Given the description of an element on the screen output the (x, y) to click on. 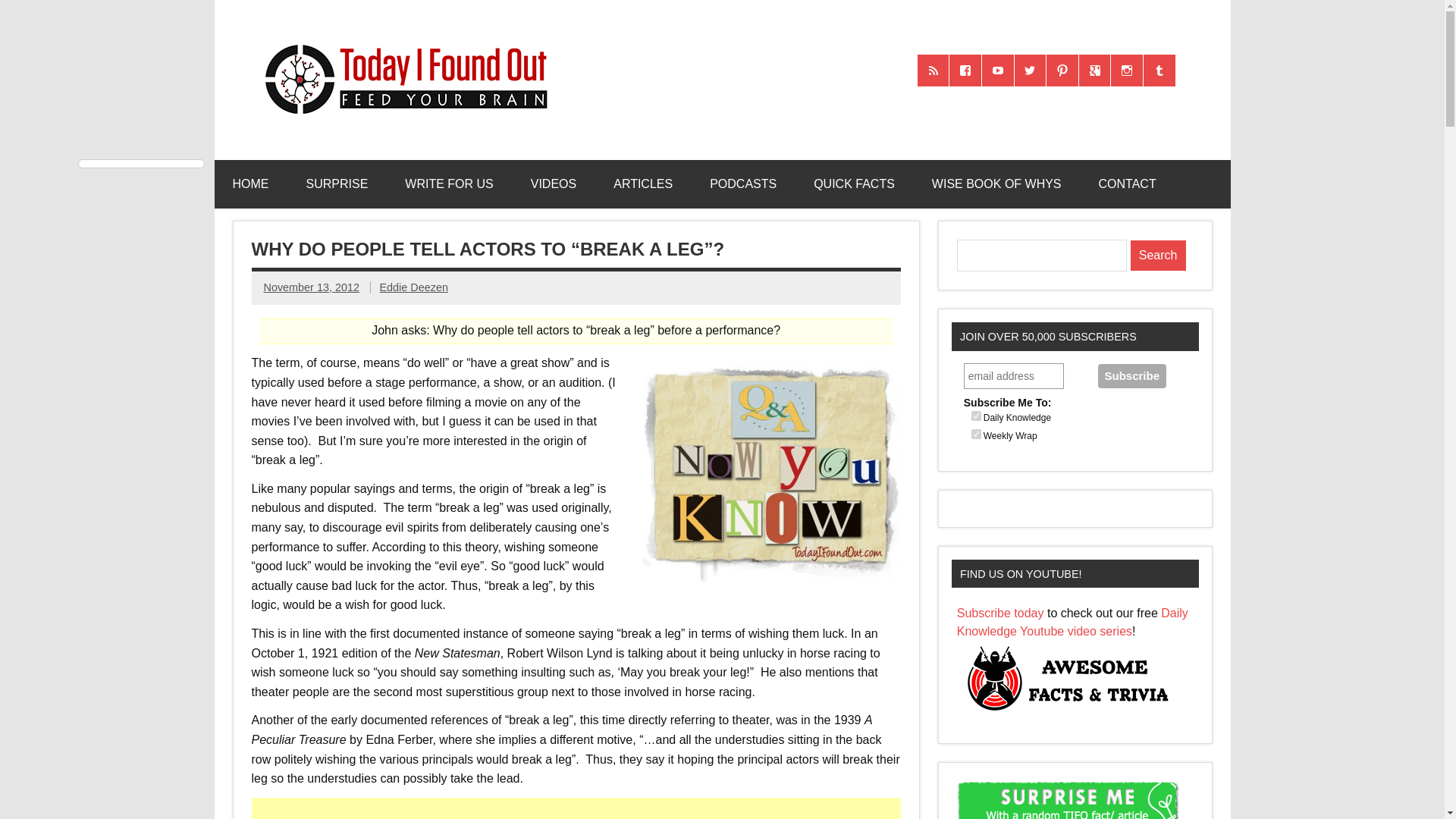
Now You Know - Answers (772, 473)
Interesting Facts (853, 183)
Subscribe (1131, 375)
1 (976, 415)
Advertisement (577, 808)
Search (1158, 255)
VIDEOS (553, 183)
WRITE FOR US (449, 183)
View all posts by Eddie Deezen (412, 287)
ARTICLES (642, 183)
CONTACT (1127, 183)
WISE BOOK OF WHYS (997, 183)
PODCASTS (742, 183)
2 (976, 433)
HOME (250, 183)
